Given the description of an element on the screen output the (x, y) to click on. 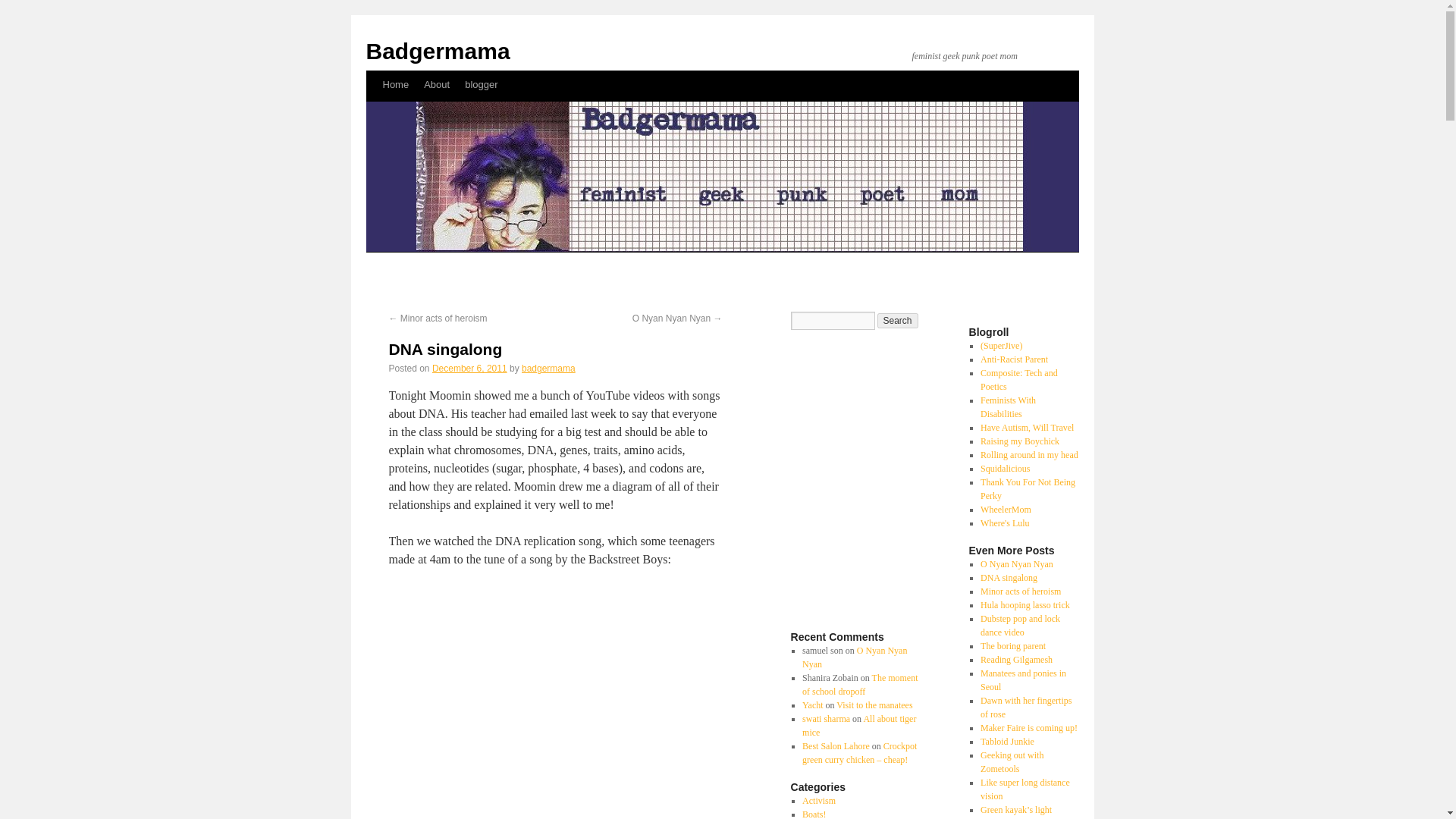
View all posts by badgermama (548, 368)
About (436, 84)
Search (896, 320)
Home (395, 84)
badgermama (548, 368)
Badgermama (437, 50)
4:17 am (469, 368)
blogger (481, 84)
Badgermama (437, 50)
December 6, 2011 (469, 368)
